Given the description of an element on the screen output the (x, y) to click on. 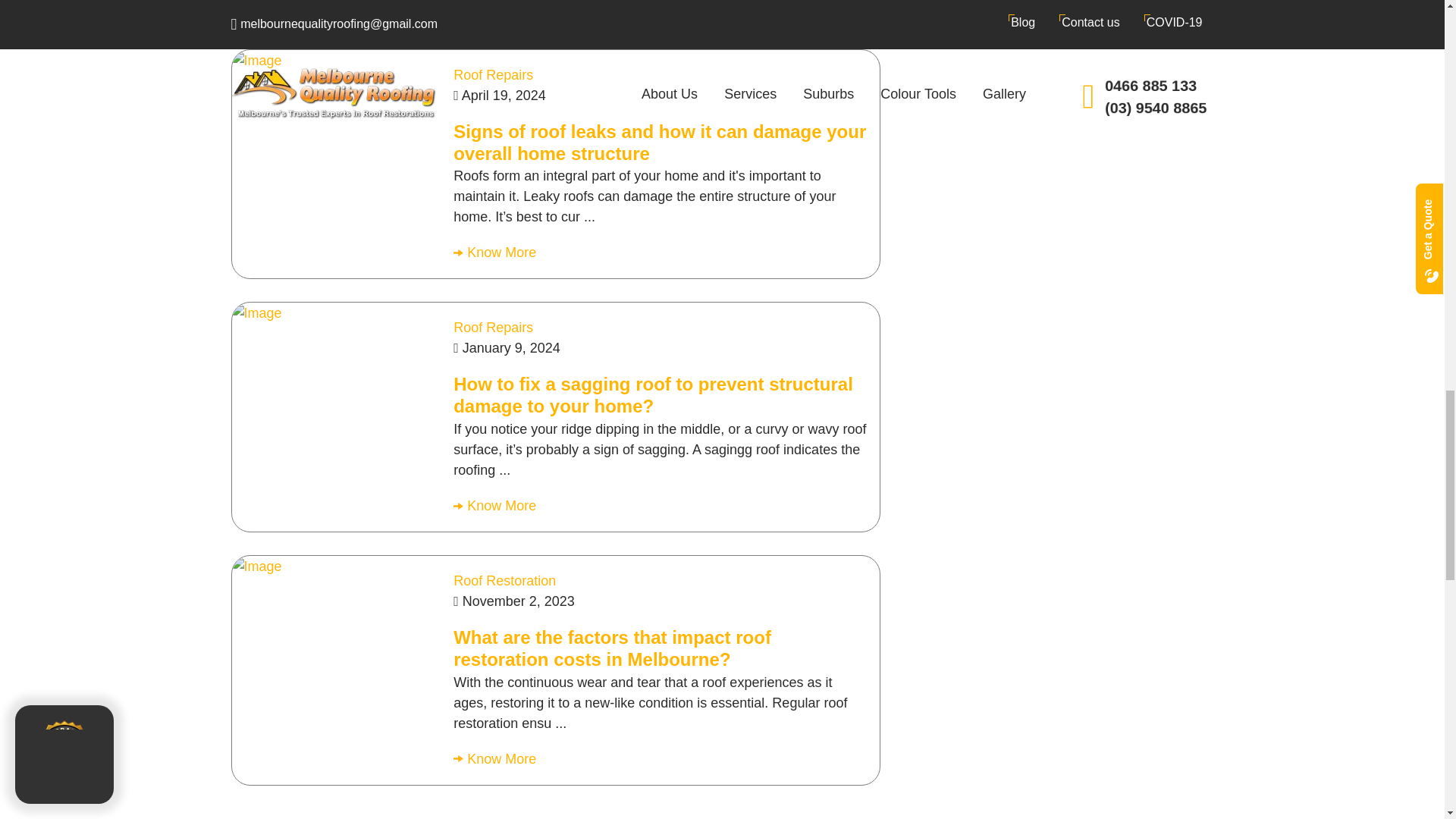
Roof Restoration (504, 580)
Roof Repairs (492, 327)
Roof Repairs (492, 74)
